Given the description of an element on the screen output the (x, y) to click on. 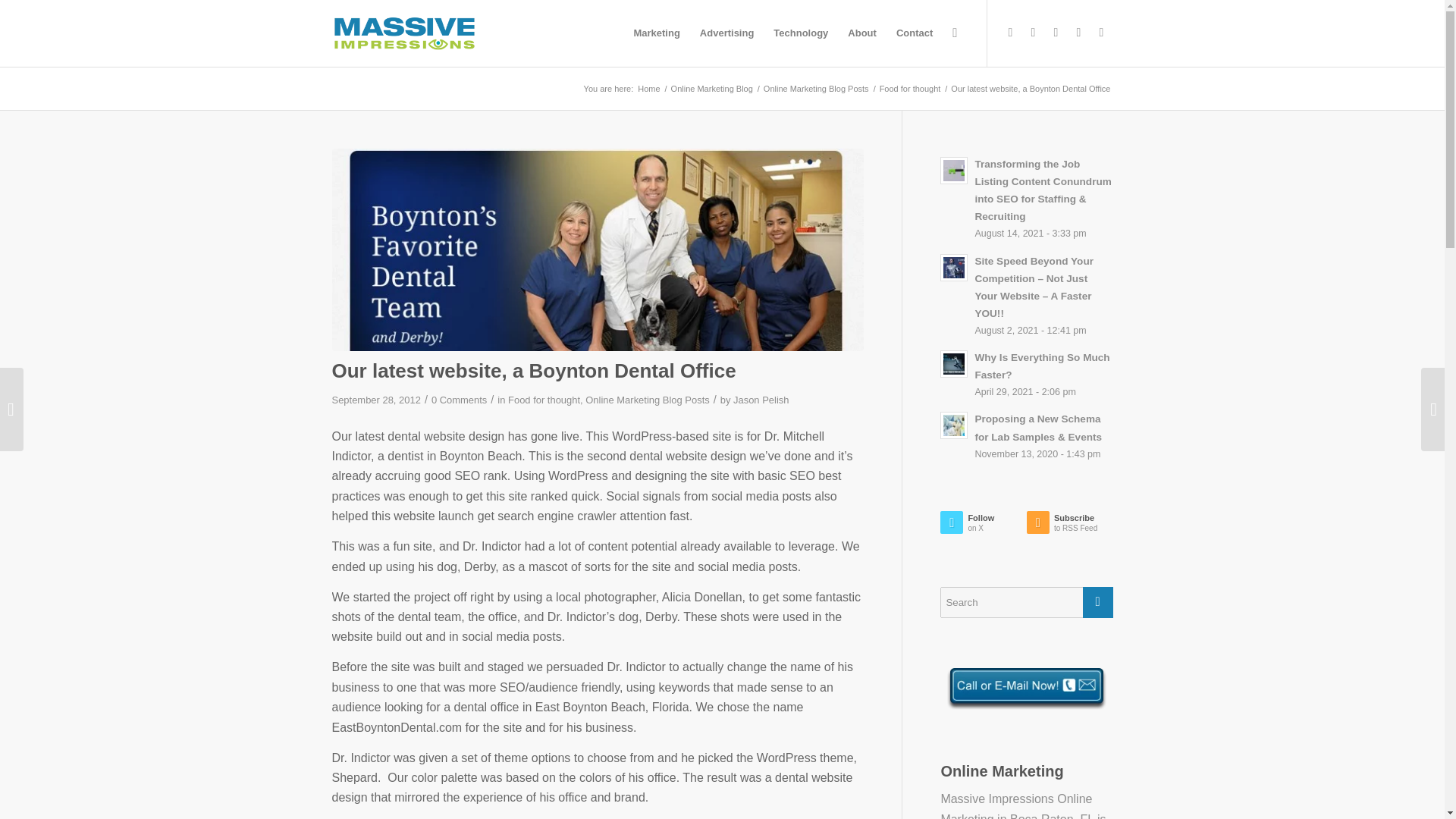
LinkedIn (1056, 32)
Instagram (1101, 32)
X (1010, 32)
Posts by Jason Pelish (761, 399)
Online Marketing Blog (711, 89)
Advertising (727, 33)
Massive Impressions Online Marketing (648, 89)
Technology (800, 33)
Facebook (1033, 32)
Pinterest (1078, 32)
